Given the description of an element on the screen output the (x, y) to click on. 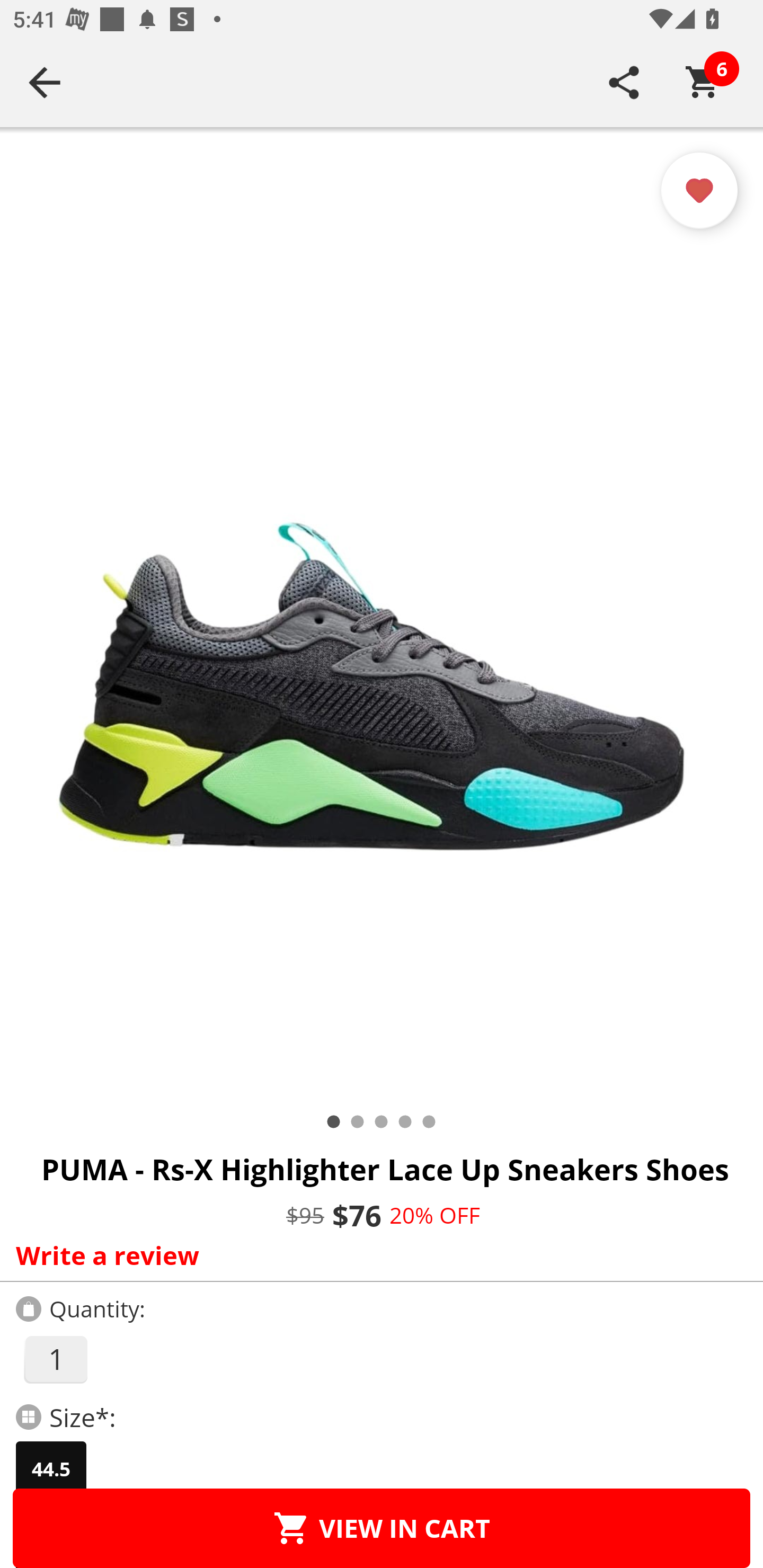
Navigate up (44, 82)
SHARE (623, 82)
Cart (703, 81)
Write a review (377, 1255)
1 (55, 1358)
44.5 (51, 1468)
VIEW IN CART (381, 1528)
